Given the description of an element on the screen output the (x, y) to click on. 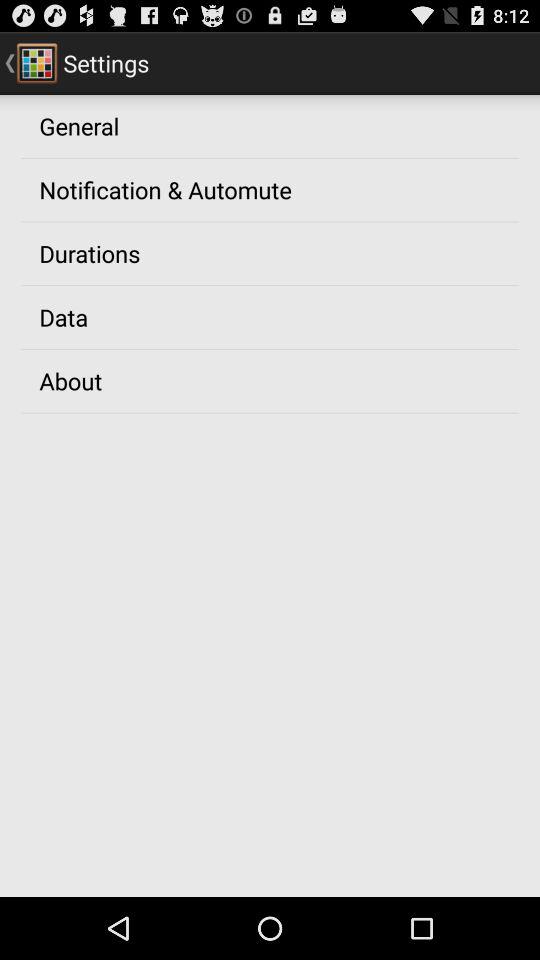
choose the about app (70, 380)
